Given the description of an element on the screen output the (x, y) to click on. 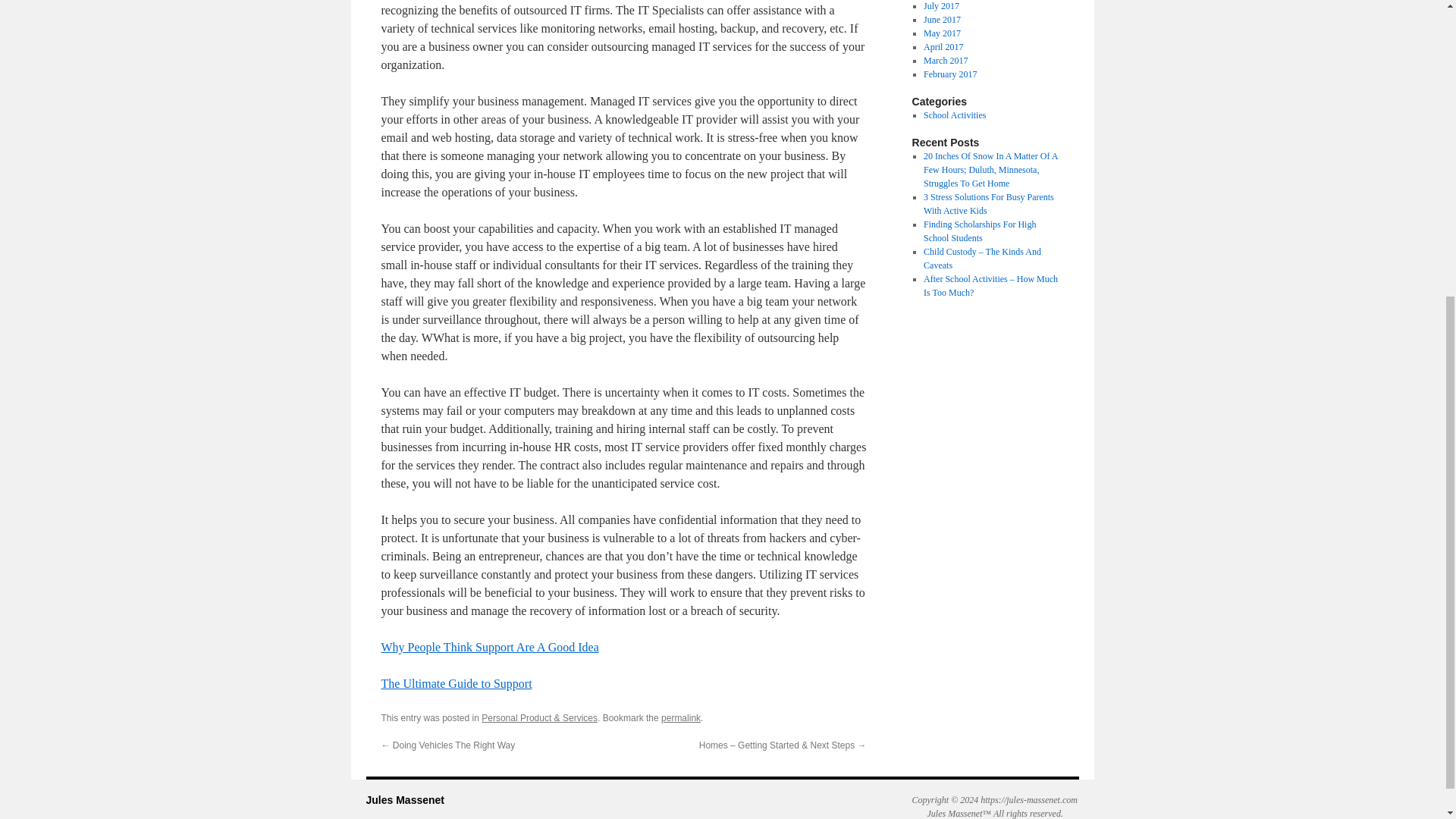
Jules Massenet (404, 799)
April 2017 (942, 46)
June 2017 (941, 19)
July 2017 (941, 5)
February 2017 (949, 73)
Jules Massenet (404, 799)
permalink (680, 717)
Permalink to Getting Down To Basics with Solutions (680, 717)
School Activities (954, 114)
